Given the description of an element on the screen output the (x, y) to click on. 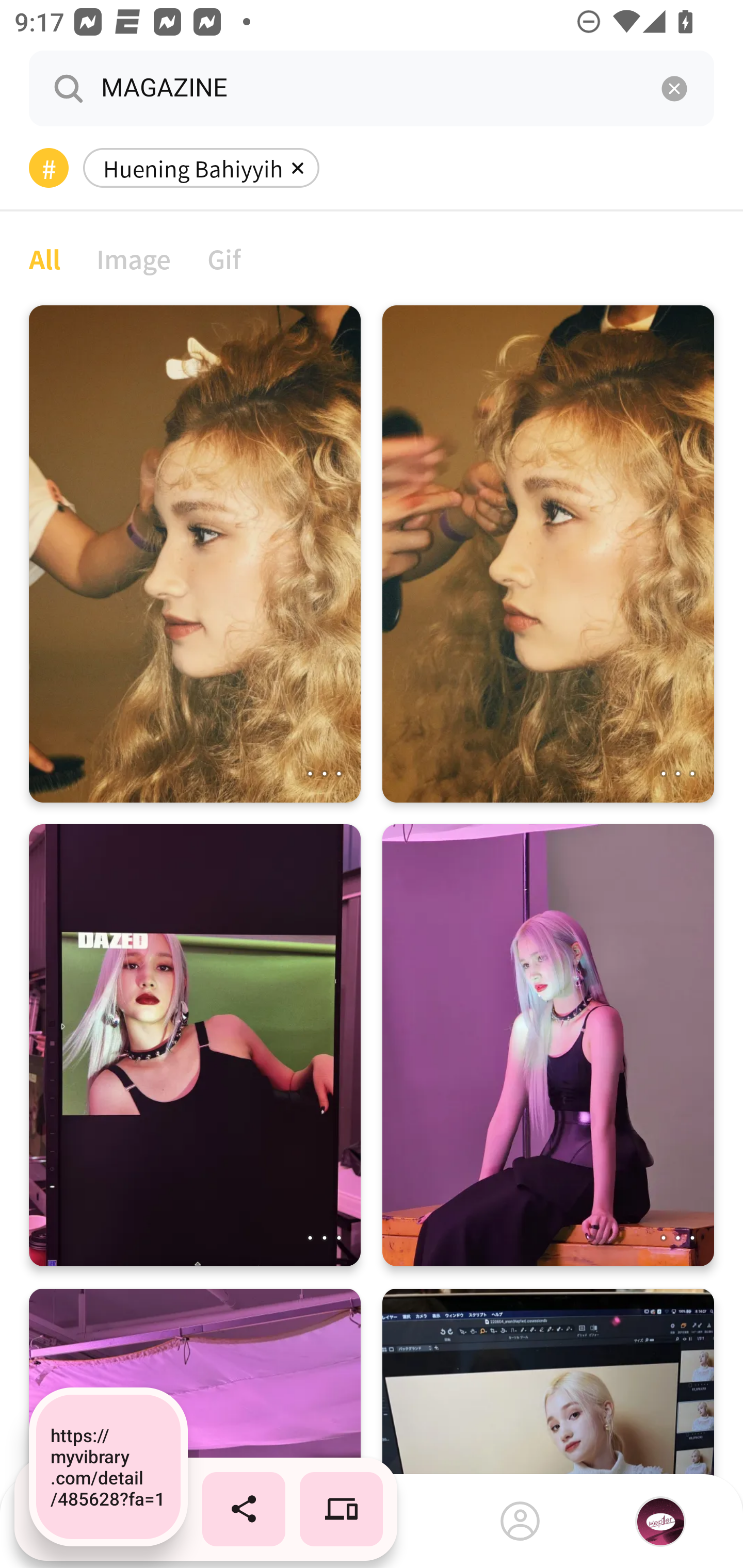
All (44, 257)
Image (133, 257)
Gif (223, 257)
